Given the description of an element on the screen output the (x, y) to click on. 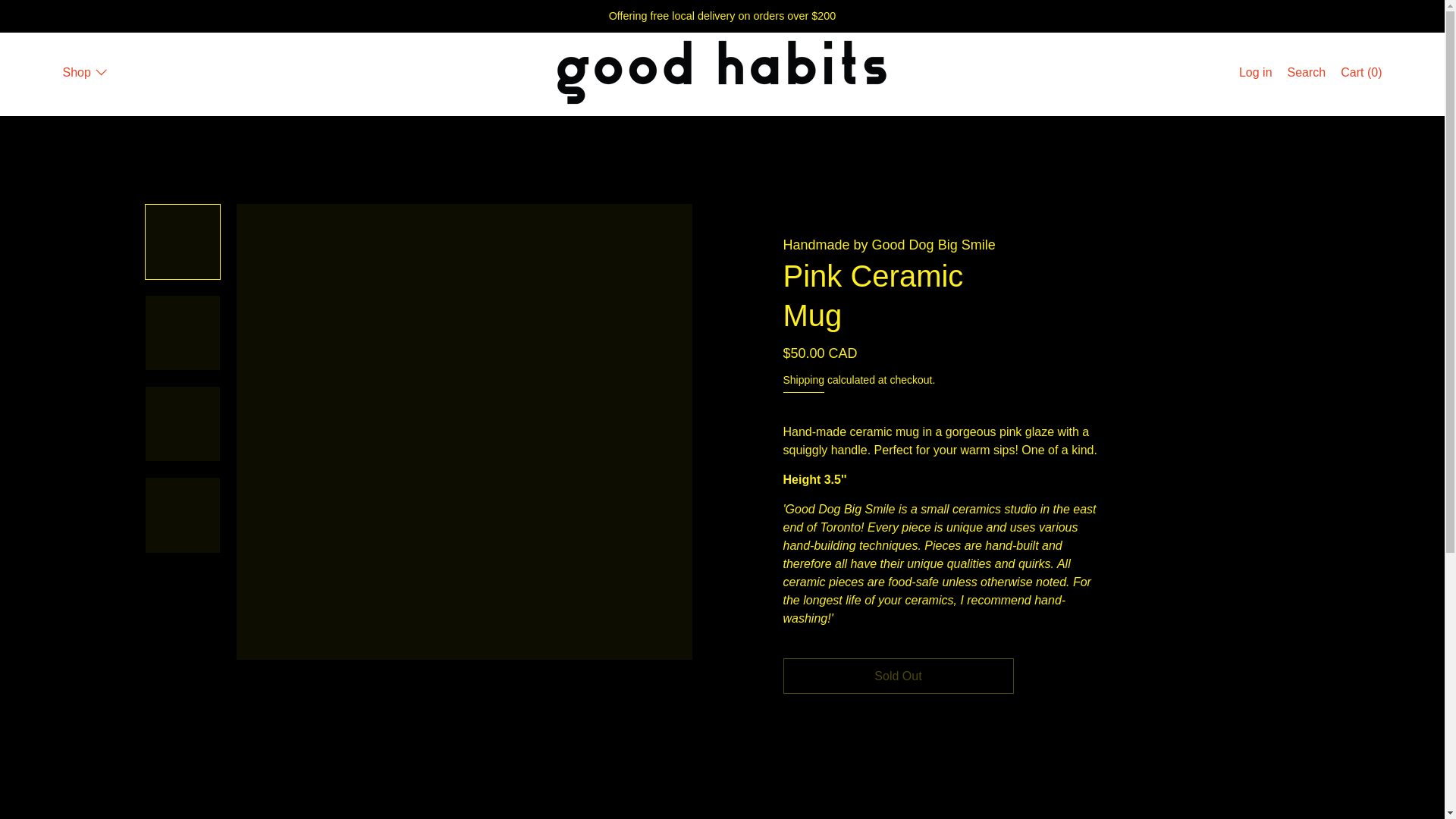
Load image into Gallery viewer, Pink Ceramic Mug (182, 332)
Log in (1255, 74)
Search (1306, 74)
Shipping (803, 381)
Shop (85, 74)
Load image into Gallery viewer, Pink Ceramic Mug (182, 423)
Load image into Gallery viewer, Pink Ceramic Mug (182, 514)
Load image into Gallery viewer, Pink Ceramic Mug (182, 241)
Sold Out (898, 676)
